Given the description of an element on the screen output the (x, y) to click on. 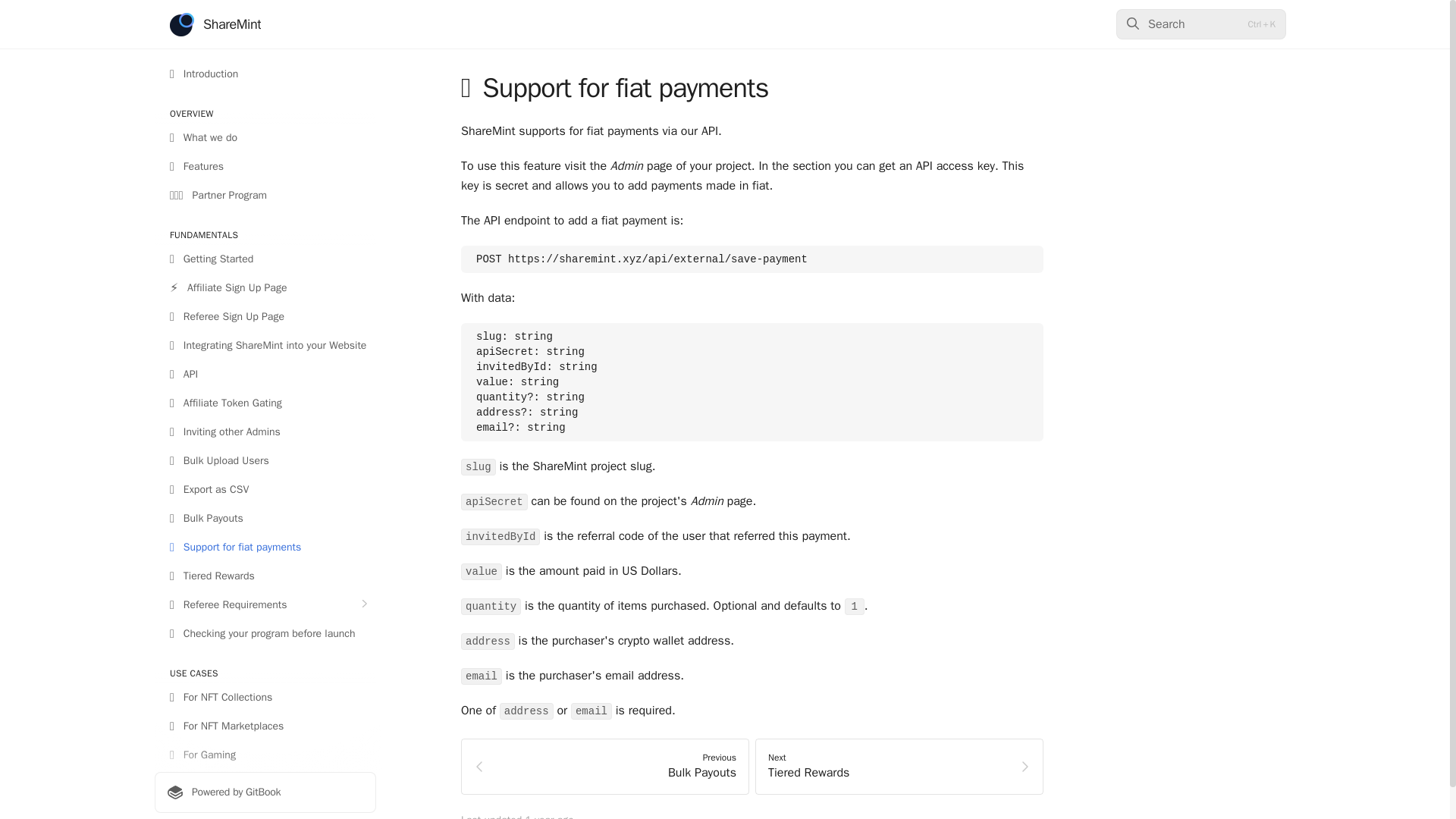
Powered by GitBook (264, 792)
ShareMint (899, 766)
